Given the description of an element on the screen output the (x, y) to click on. 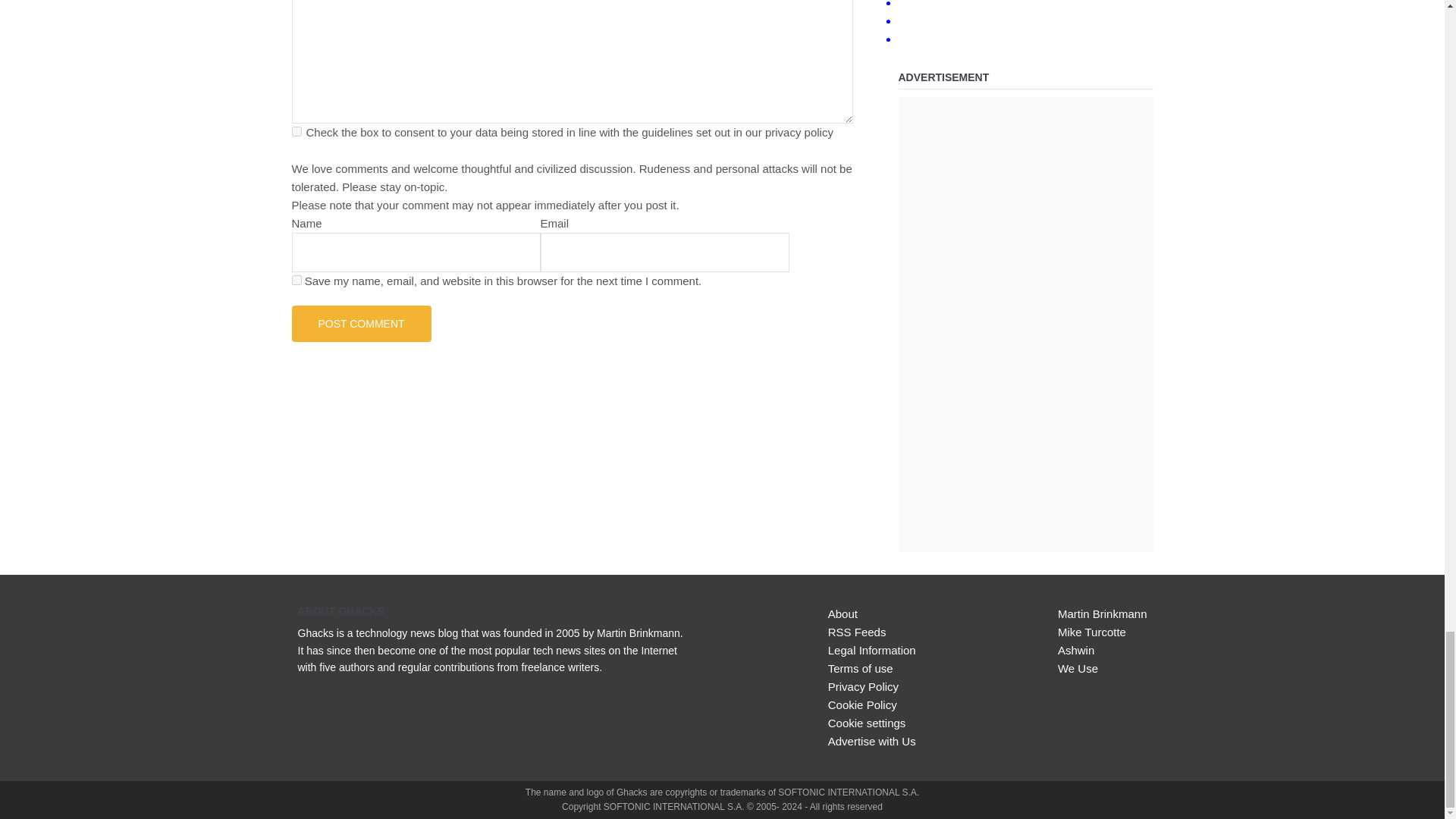
privacy-key (296, 131)
yes (296, 280)
Post Comment (360, 323)
